Given the description of an element on the screen output the (x, y) to click on. 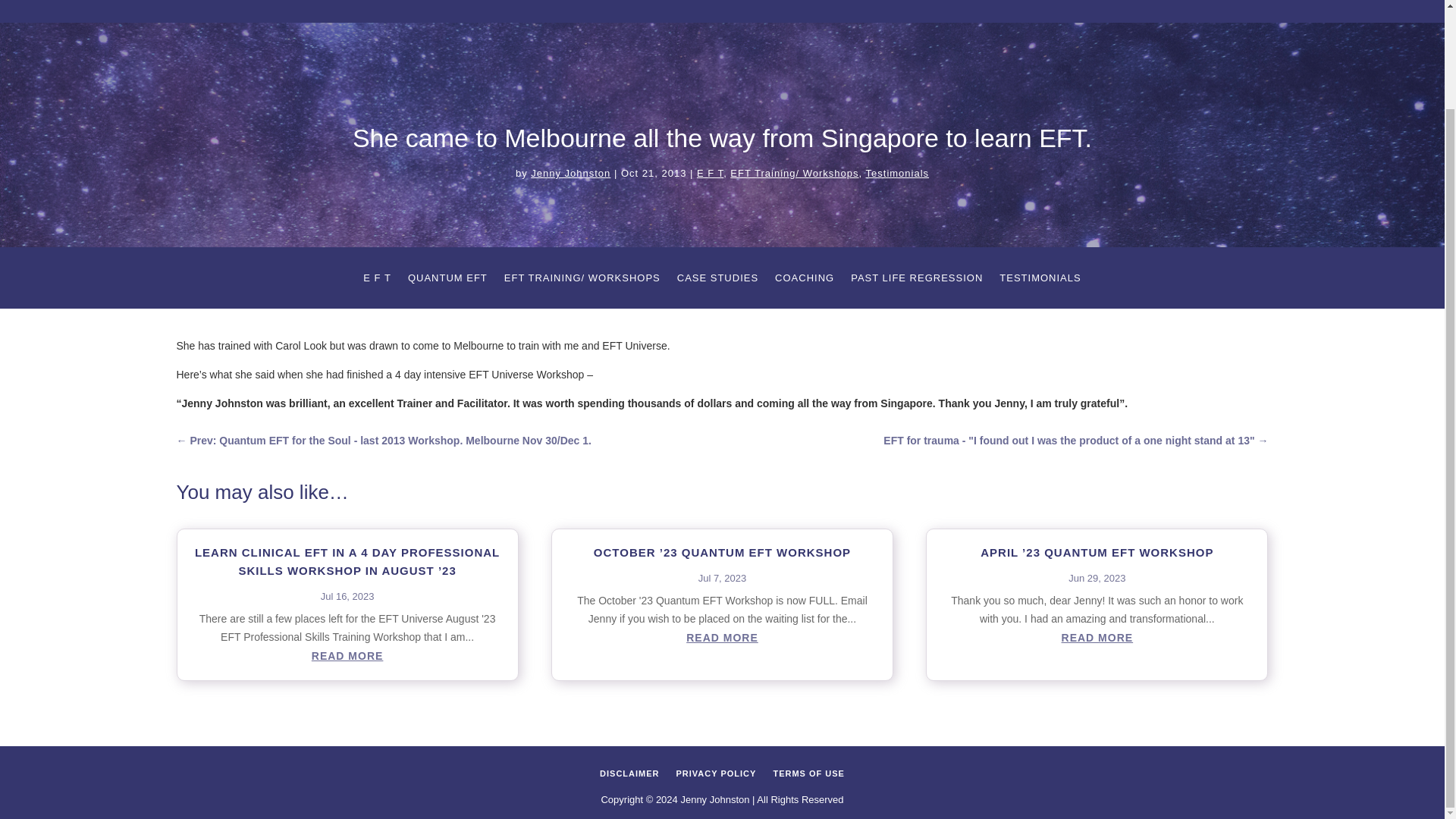
QUANTUM EFT (447, 280)
CONTACT (1035, 1)
SHOP (973, 1)
QUANTUM EFT (580, 1)
HOME (328, 1)
CLINICAL EFT (477, 1)
0 Items (1098, 1)
BOOKS (917, 1)
Testimonials (898, 173)
Jenny Johnston (570, 173)
ABOUT (391, 1)
COACHING (784, 1)
VIDEOS (857, 1)
E F T (376, 280)
E F T (710, 173)
